Given the description of an element on the screen output the (x, y) to click on. 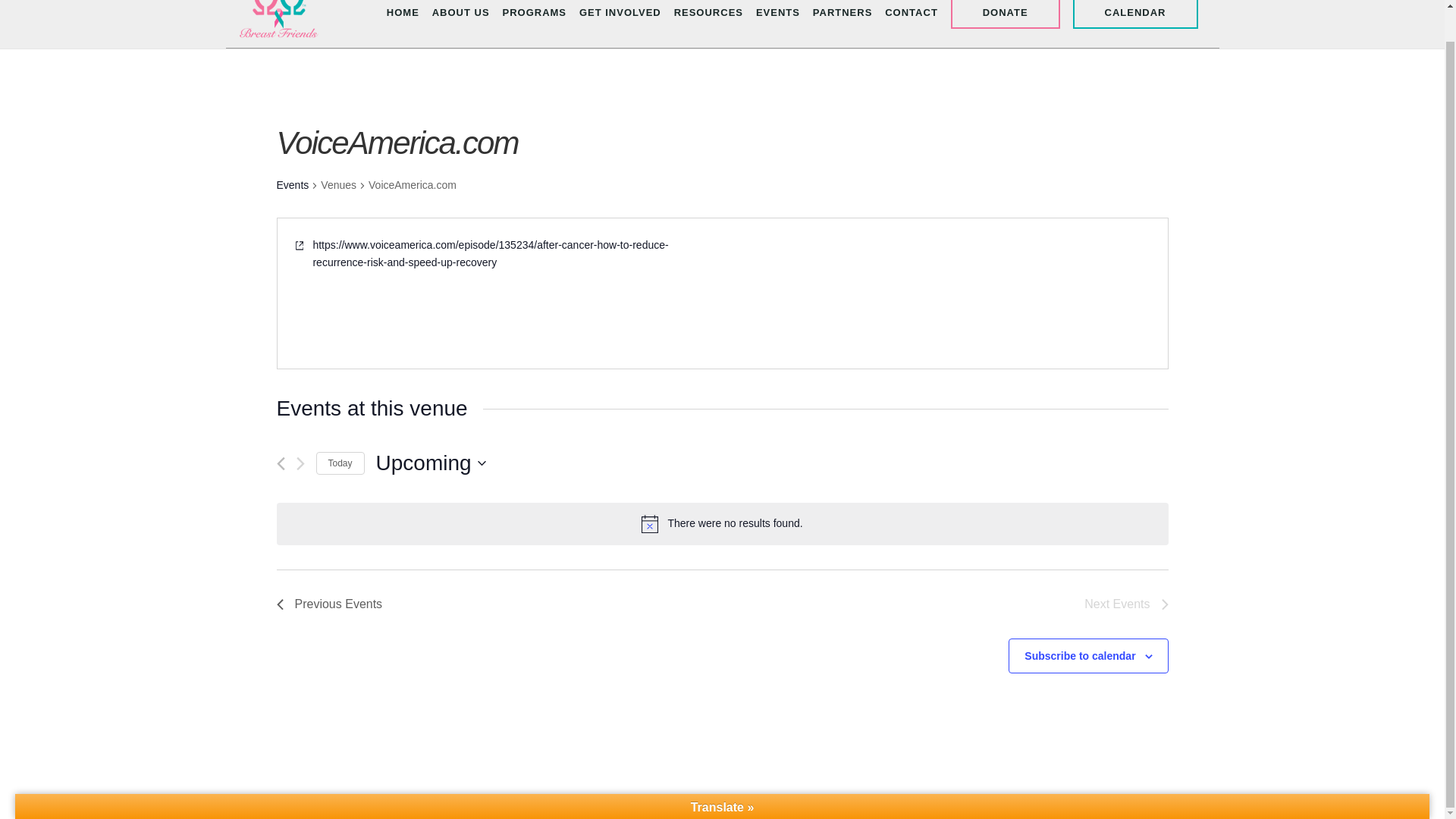
Subscribe to calendar (1080, 655)
DONATE (1004, 13)
ABOUT US (460, 15)
CONTACT (911, 15)
PARTNERS (842, 15)
HOME (403, 15)
Next Events (1125, 604)
RESOURCES (708, 15)
Click to toggle datepicker (430, 462)
GET INVOLVED (620, 15)
Upcoming (430, 462)
Previous Events (328, 604)
CALENDAR (1135, 13)
Click to select today's date (339, 463)
